Given the description of an element on the screen output the (x, y) to click on. 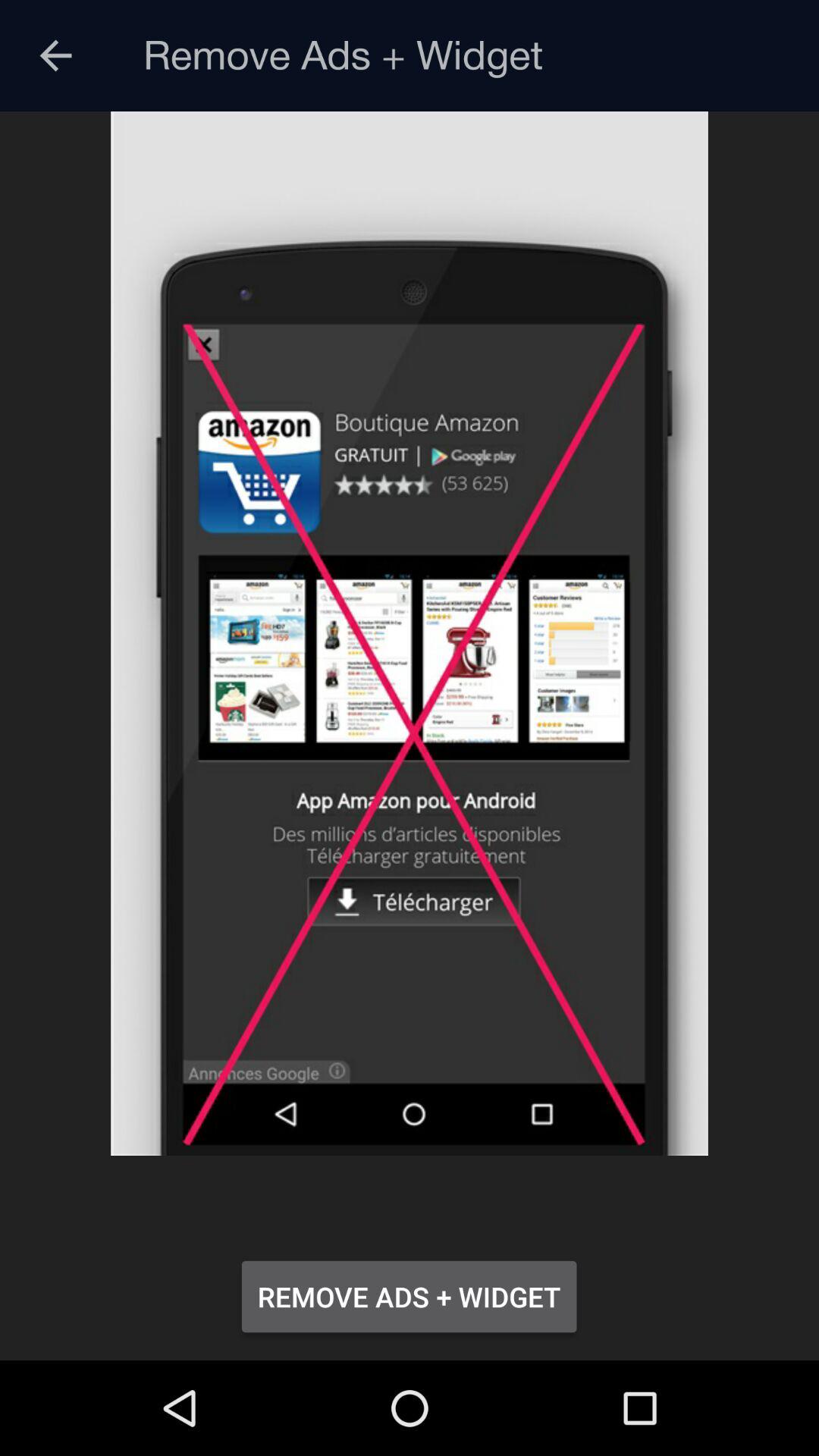
turn off item next to the remove ads + widget (55, 55)
